Given the description of an element on the screen output the (x, y) to click on. 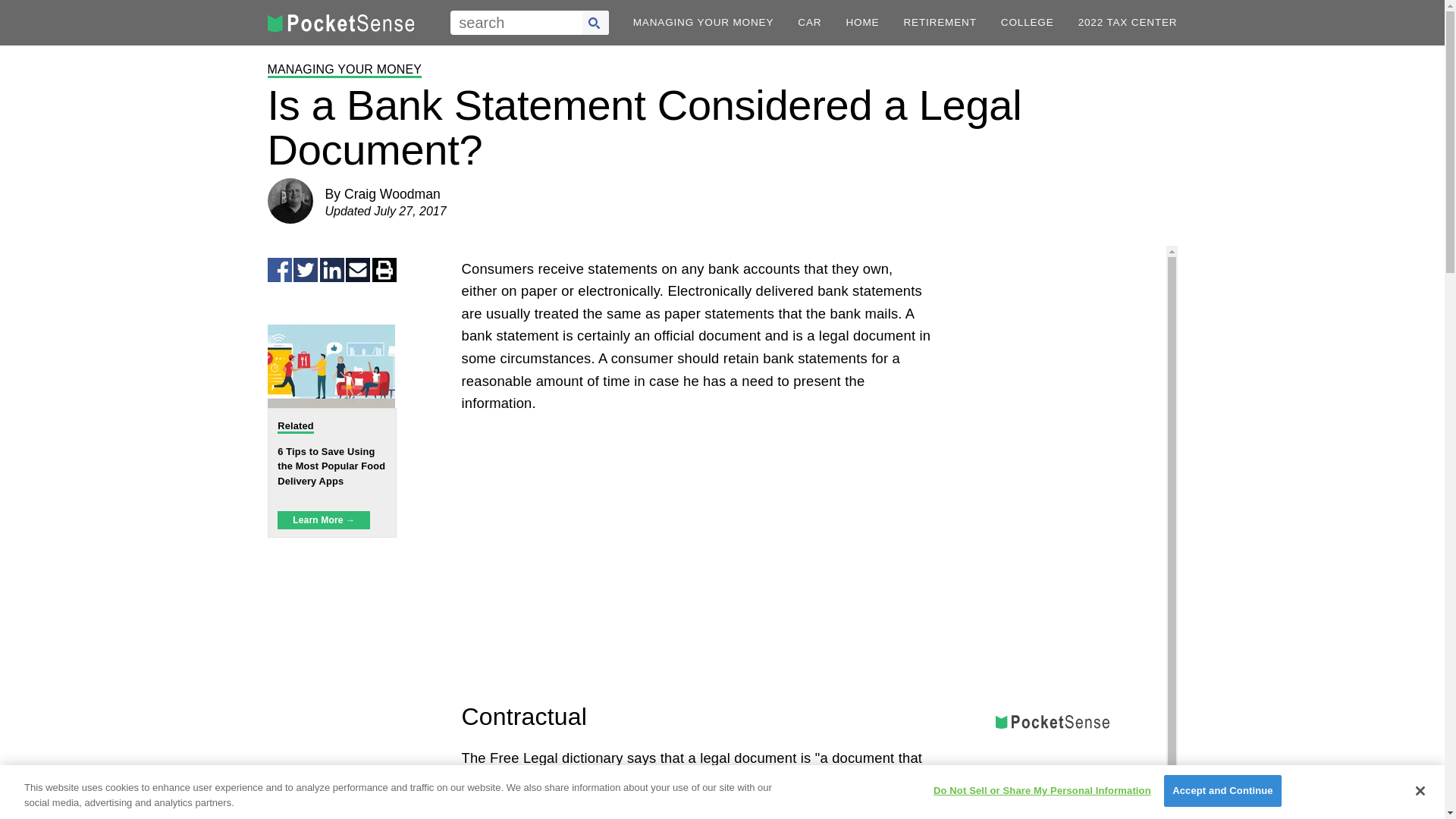
HOME (862, 22)
2022 TAX CENTER (1127, 22)
Advertisement (696, 569)
3rd party ad content (1052, 780)
COLLEGE (1027, 22)
3rd party ad content (1052, 339)
MANAGING YOUR MONEY (703, 22)
RETIREMENT (938, 22)
MANAGING YOUR MONEY (344, 70)
